Given the description of an element on the screen output the (x, y) to click on. 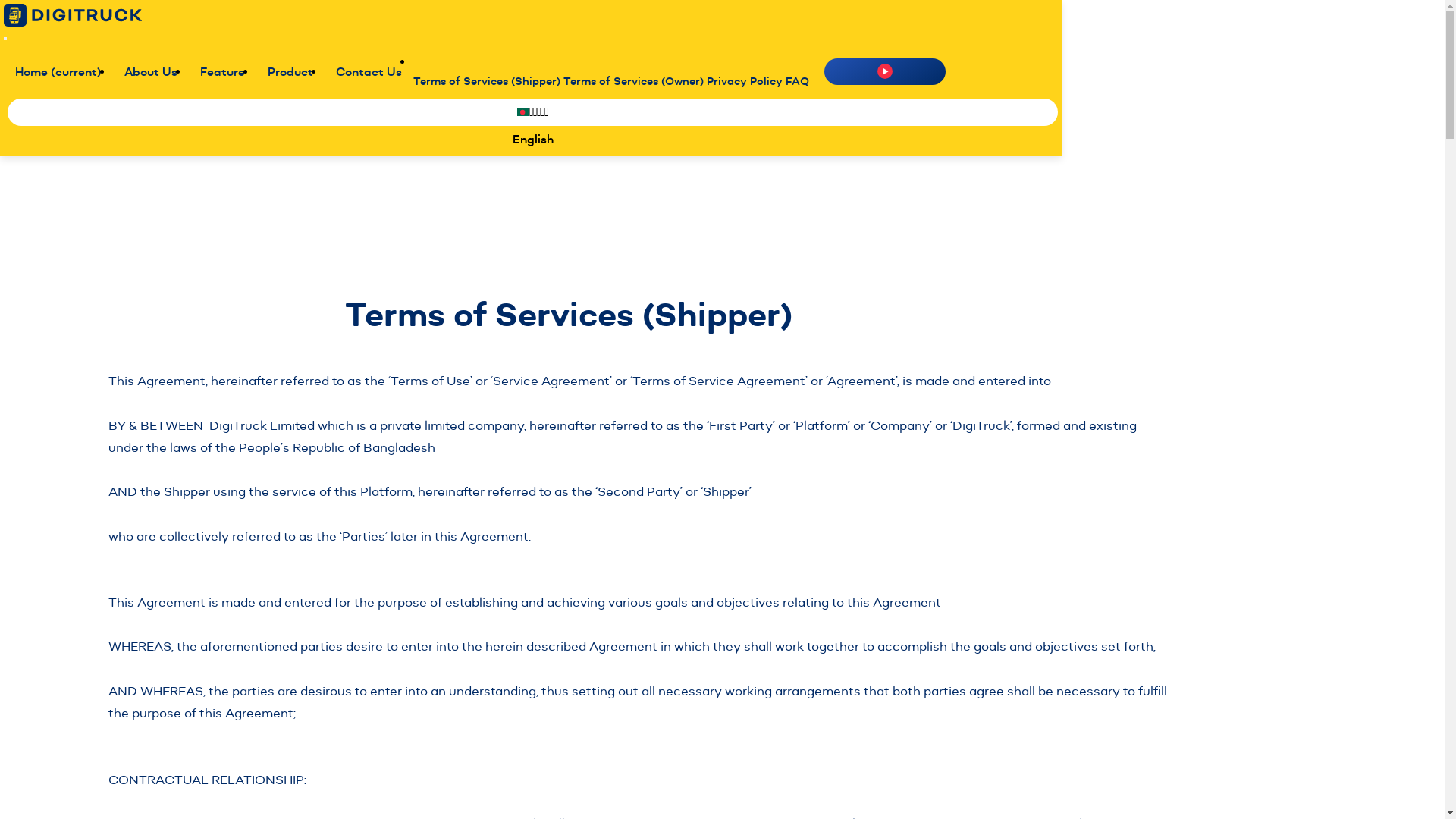
Home (current) Element type: text (57, 71)
Terms of Services (Shipper) Element type: text (486, 80)
Feature Element type: text (222, 71)
Contact Us Element type: text (368, 71)
English Element type: text (532, 139)
About Us Element type: text (150, 71)
Privacy Policy Element type: text (744, 80)
Terms of Services (Owner) Element type: text (633, 80)
Product Element type: text (290, 71)
FAQ Element type: text (797, 80)
